Given the description of an element on the screen output the (x, y) to click on. 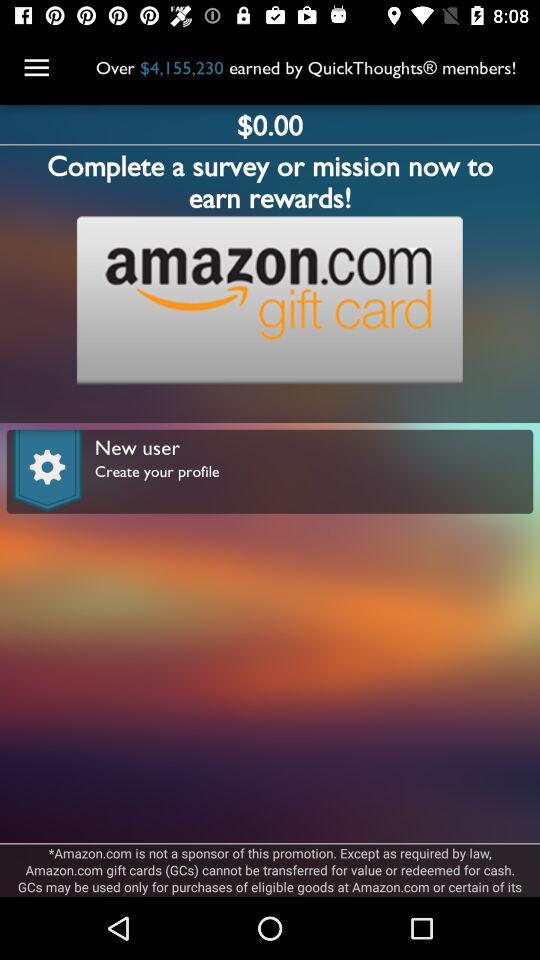
go to amazon.com website (269, 300)
